Given the description of an element on the screen output the (x, y) to click on. 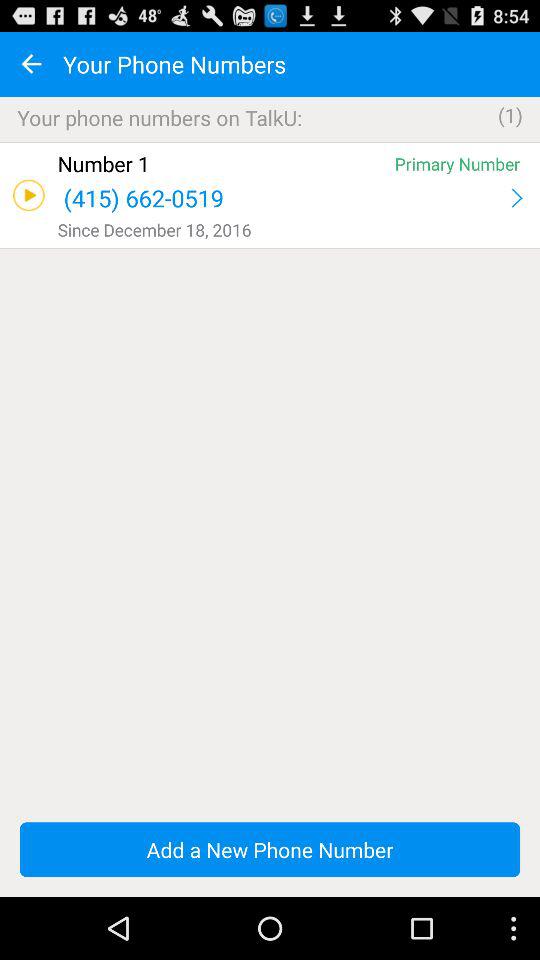
tap app above the since december 18 item (516, 198)
